Given the description of an element on the screen output the (x, y) to click on. 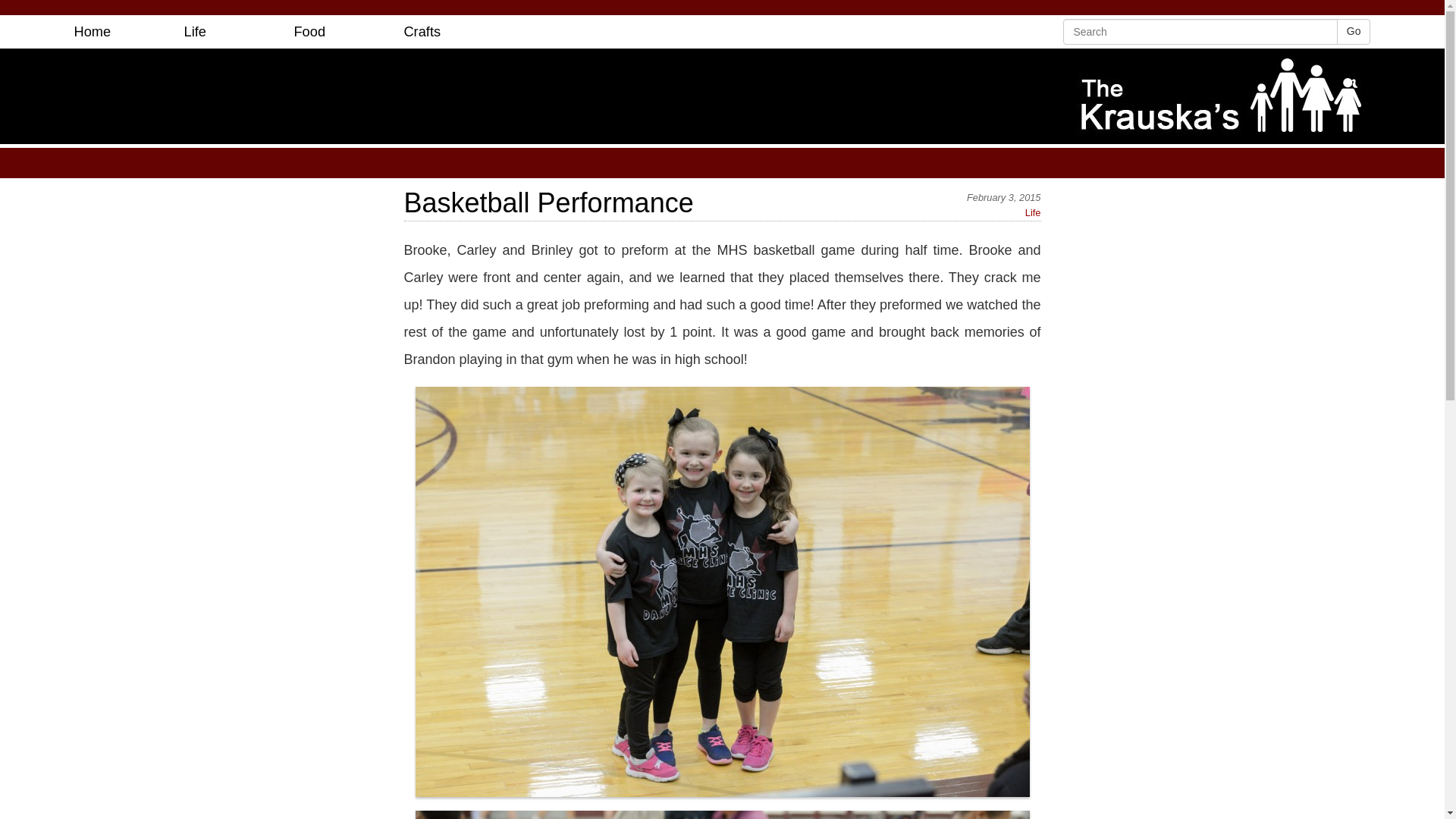
Basketball Performance (722, 203)
Life (1033, 212)
Go (1353, 31)
Food (309, 31)
Crafts (422, 31)
Go (1353, 31)
Home (93, 31)
